Given the description of an element on the screen output the (x, y) to click on. 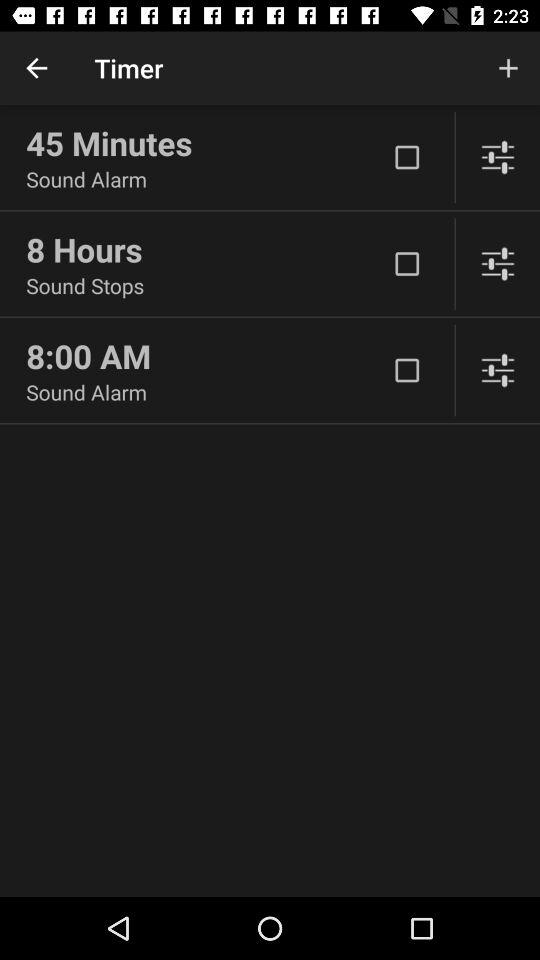
tap the icon above 45 minutes item (36, 68)
